Given the description of an element on the screen output the (x, y) to click on. 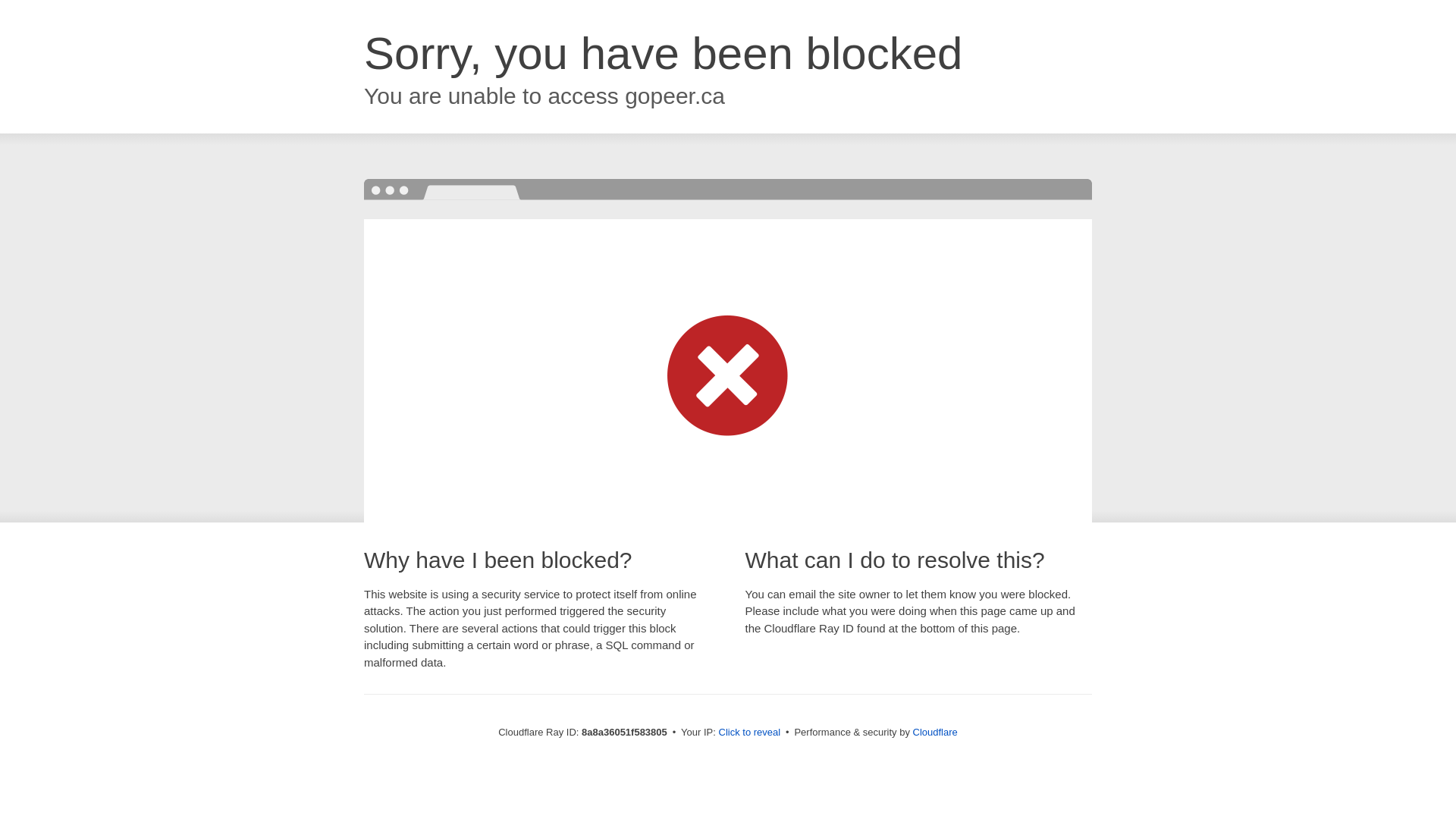
Cloudflare (935, 731)
Click to reveal (749, 732)
